Given the description of an element on the screen output the (x, y) to click on. 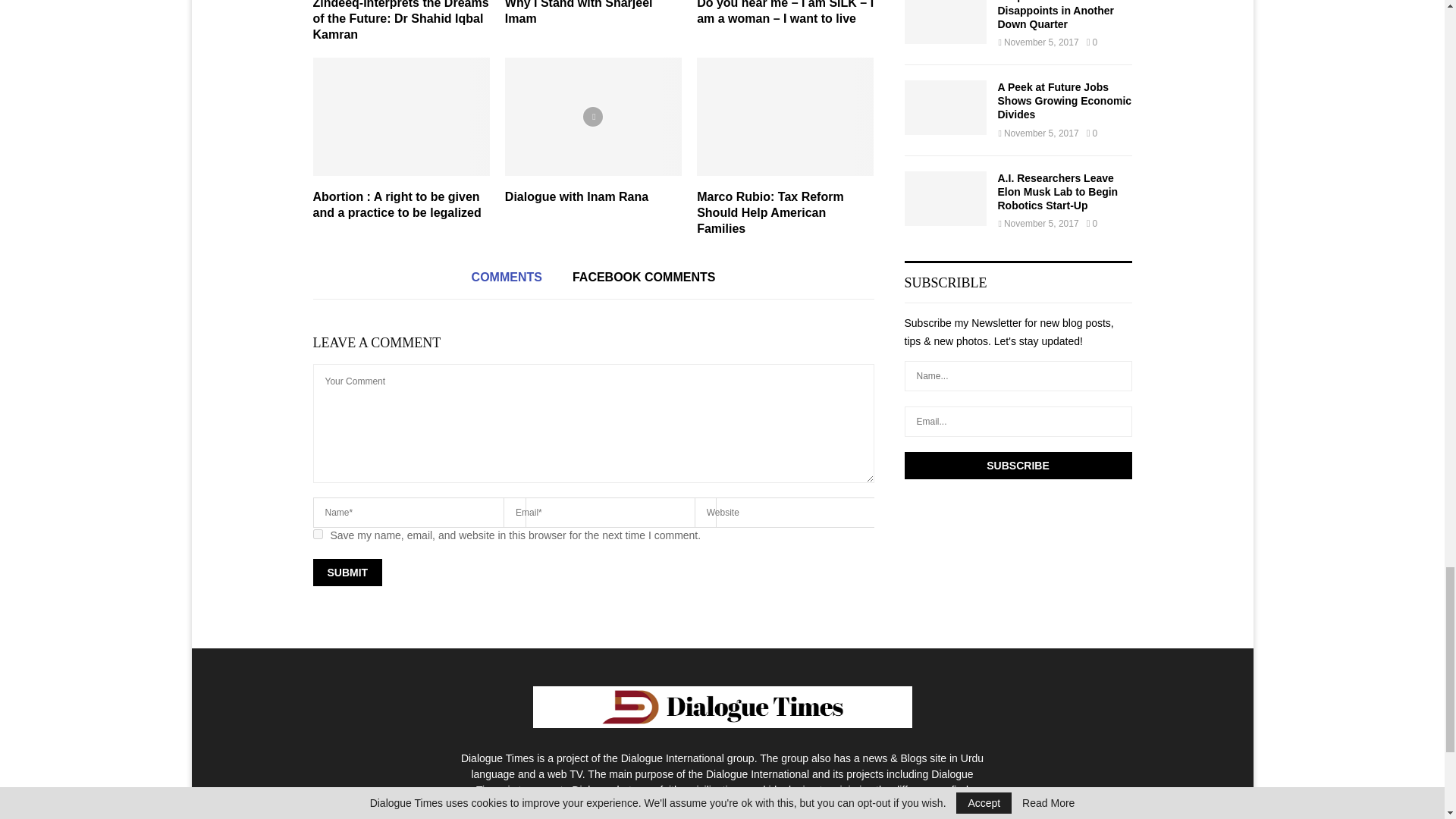
Subscribe (1017, 465)
Submit (347, 572)
yes (317, 533)
